Given the description of an element on the screen output the (x, y) to click on. 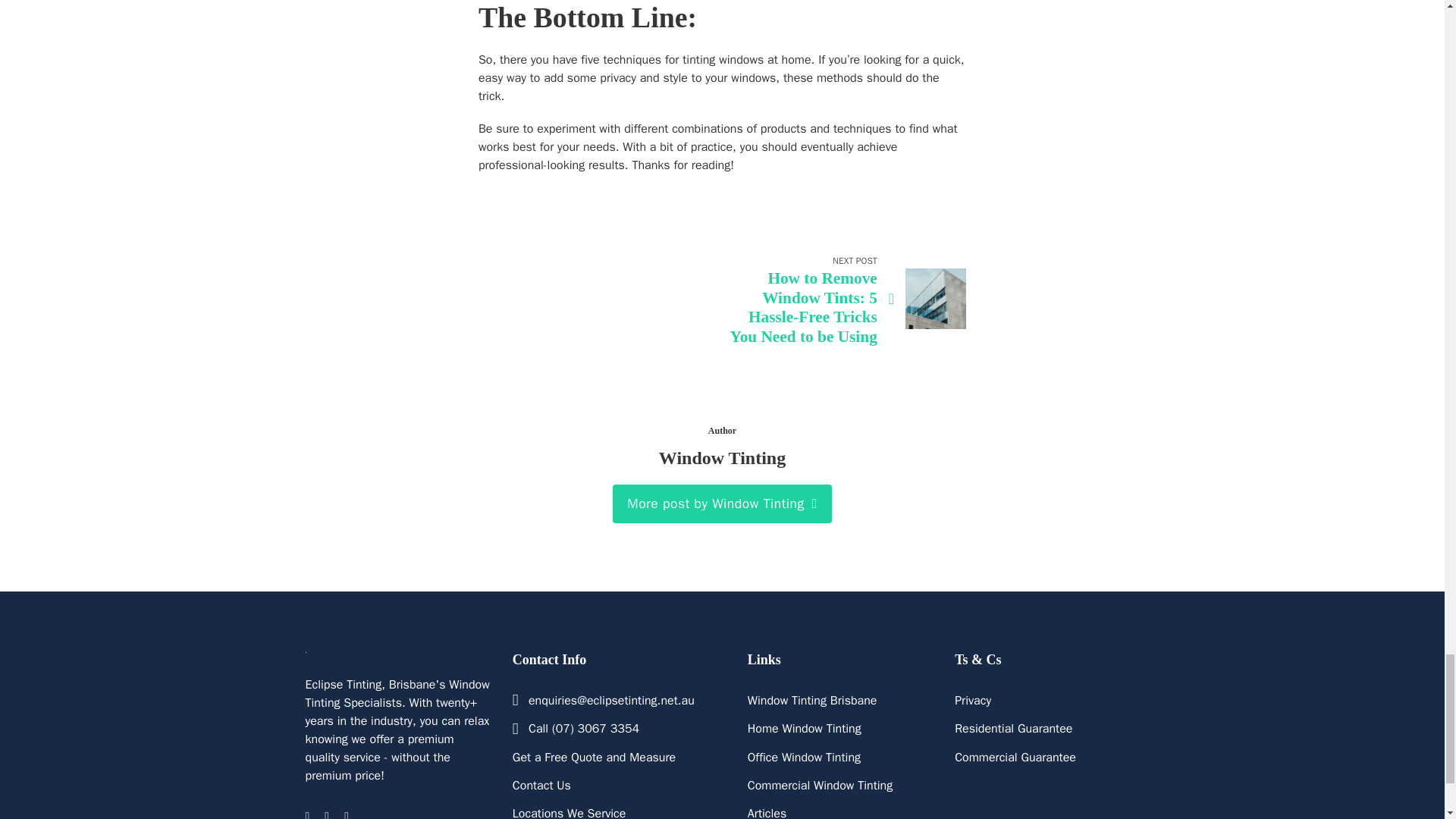
Contact Us (541, 785)
More post by Window Tinting (722, 503)
Locations We Service (569, 811)
Get a Free Quote and Measure (593, 757)
